Given the description of an element on the screen output the (x, y) to click on. 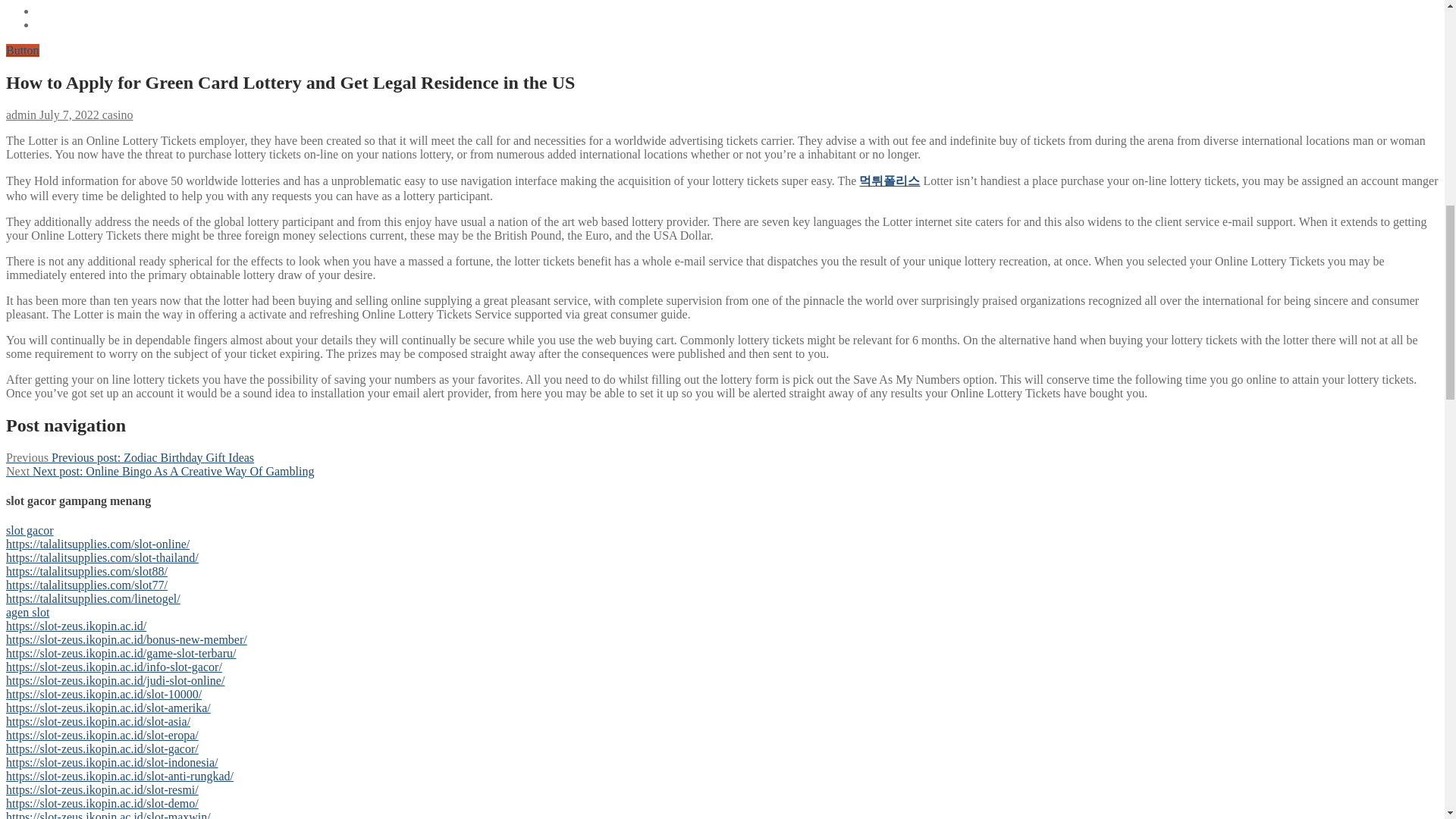
July 7, 2022 (67, 114)
Button (22, 50)
casino (116, 114)
Next Next post: Online Bingo As A Creative Way Of Gambling (159, 471)
admin (20, 114)
agen slot (27, 612)
Previous Previous post: Zodiac Birthday Gift Ideas (129, 457)
slot gacor (29, 530)
